Given the description of an element on the screen output the (x, y) to click on. 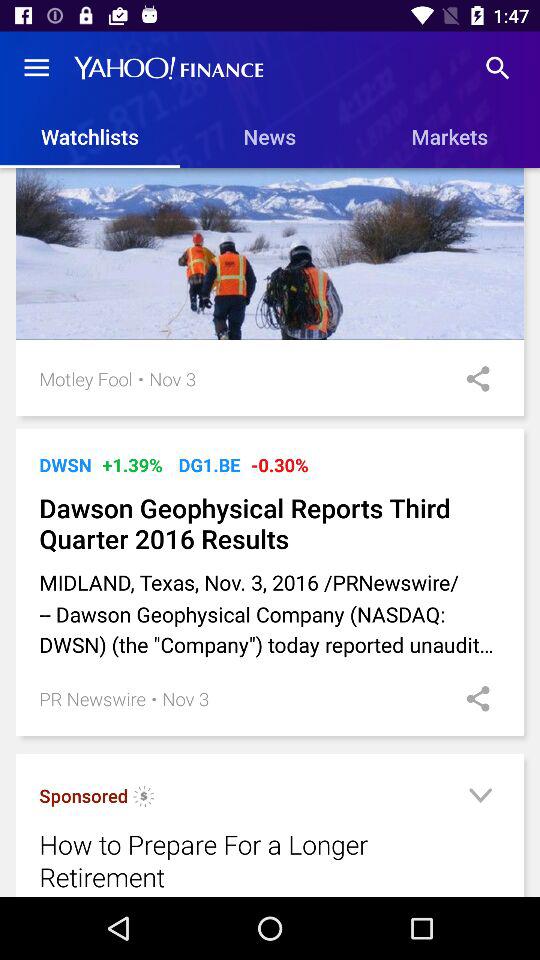
scroll to motley fool item (85, 378)
